Given the description of an element on the screen output the (x, y) to click on. 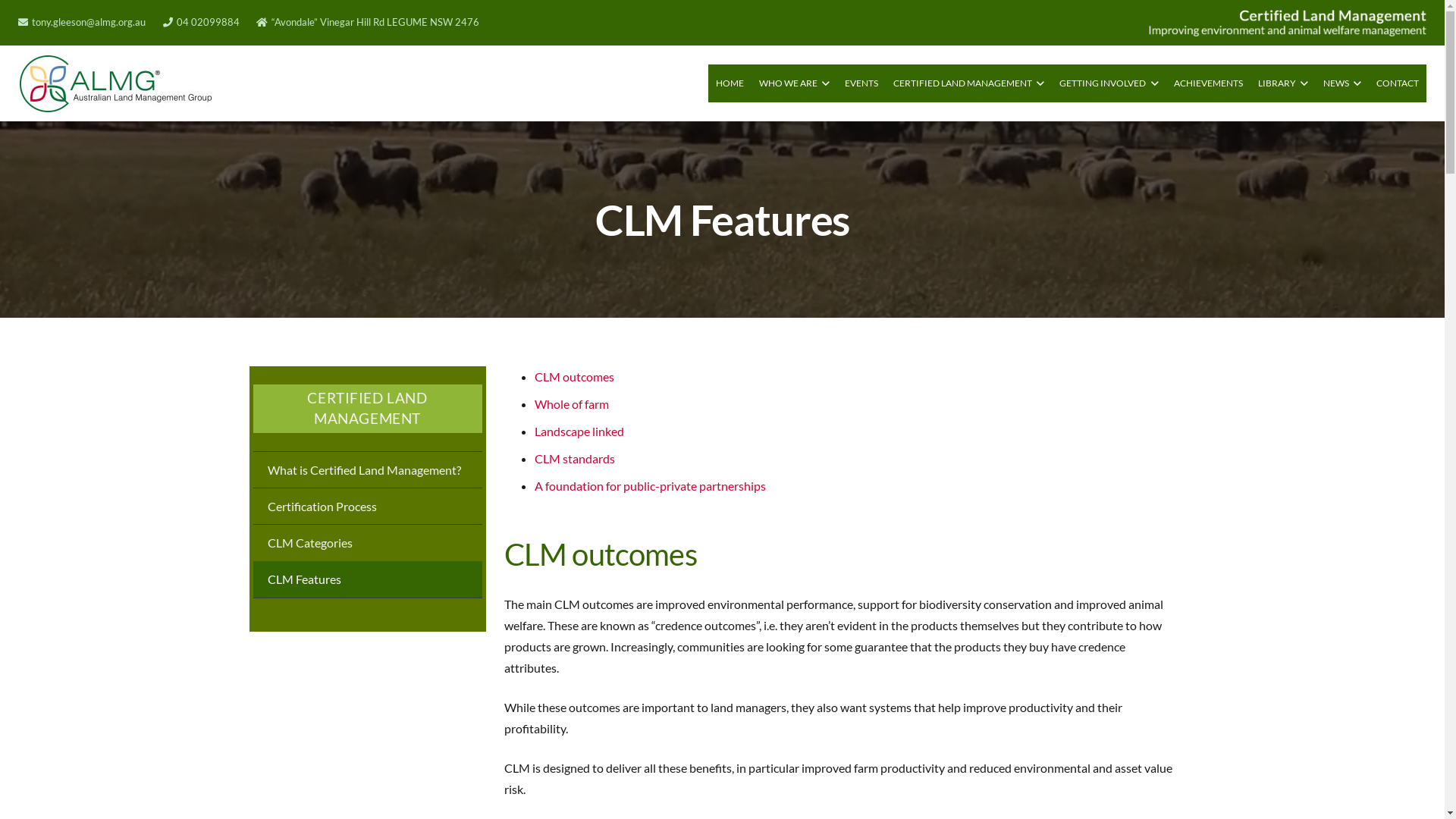
CLM standards Element type: text (573, 458)
HOME Element type: text (729, 83)
NEWS Element type: text (1341, 83)
EVENTS Element type: text (861, 83)
WHO WE ARE Element type: text (794, 83)
CERTIFIED LAND MANAGEMENT Element type: text (968, 83)
Certification Process Element type: text (367, 505)
04 02099884 Element type: text (201, 21)
What is Certified Land Management? Element type: text (367, 469)
tony.gleeson@almg.org.au Element type: text (81, 21)
Landscape linked Element type: text (578, 430)
CONTACT Element type: text (1397, 83)
CLM Features Element type: text (367, 579)
CLM outcomes Element type: text (573, 376)
CLM Categories Element type: text (367, 542)
ACHIEVEMENTS Element type: text (1208, 83)
LIBRARY Element type: text (1282, 83)
Whole of farm Element type: text (570, 403)
GETTING INVOLVED Element type: text (1108, 83)
A foundation for public-private partnerships Element type: text (649, 485)
